Given the description of an element on the screen output the (x, y) to click on. 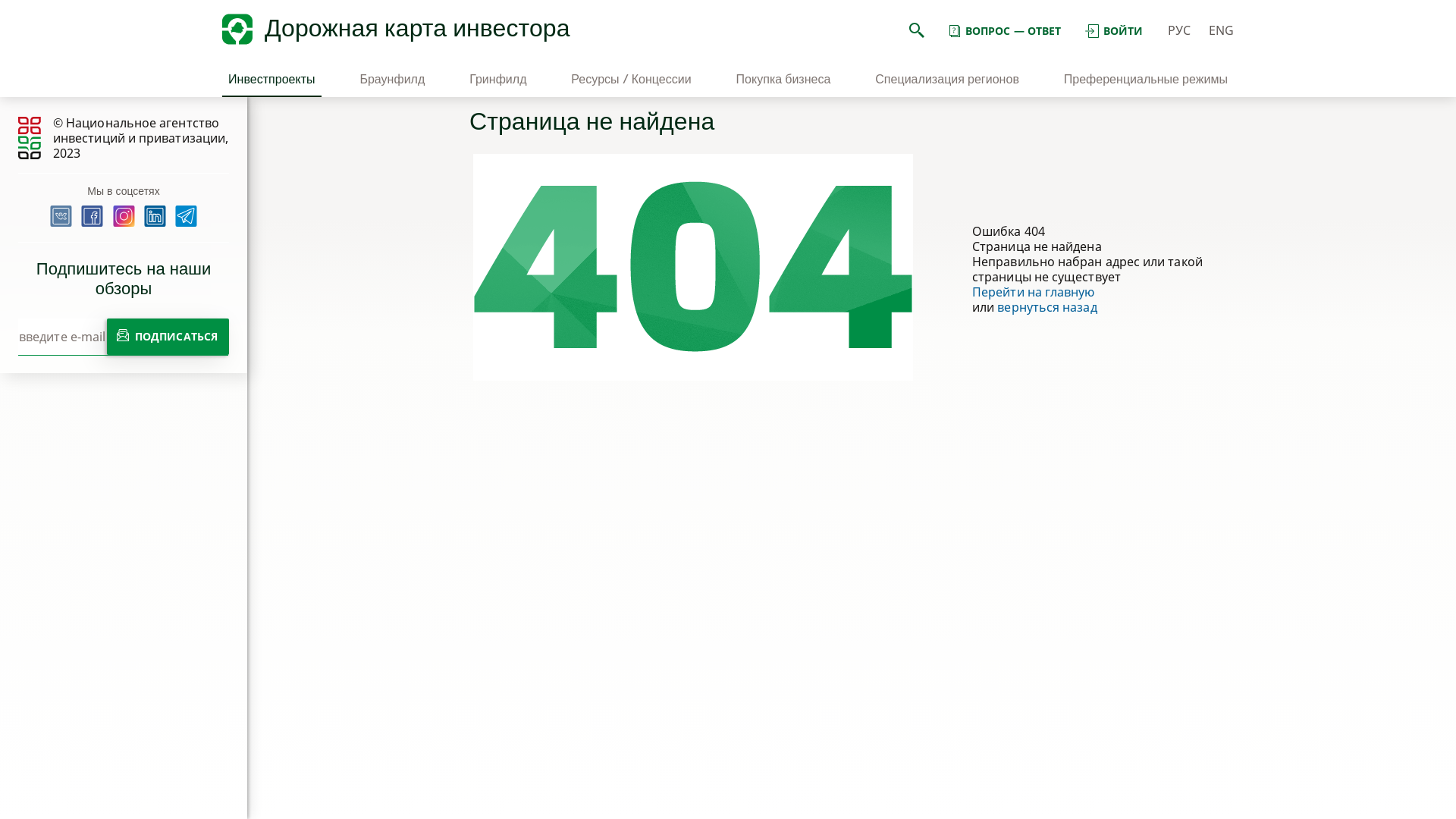
ENG Element type: text (1220, 29)
:-( Element type: hover (693, 266)
